Given the description of an element on the screen output the (x, y) to click on. 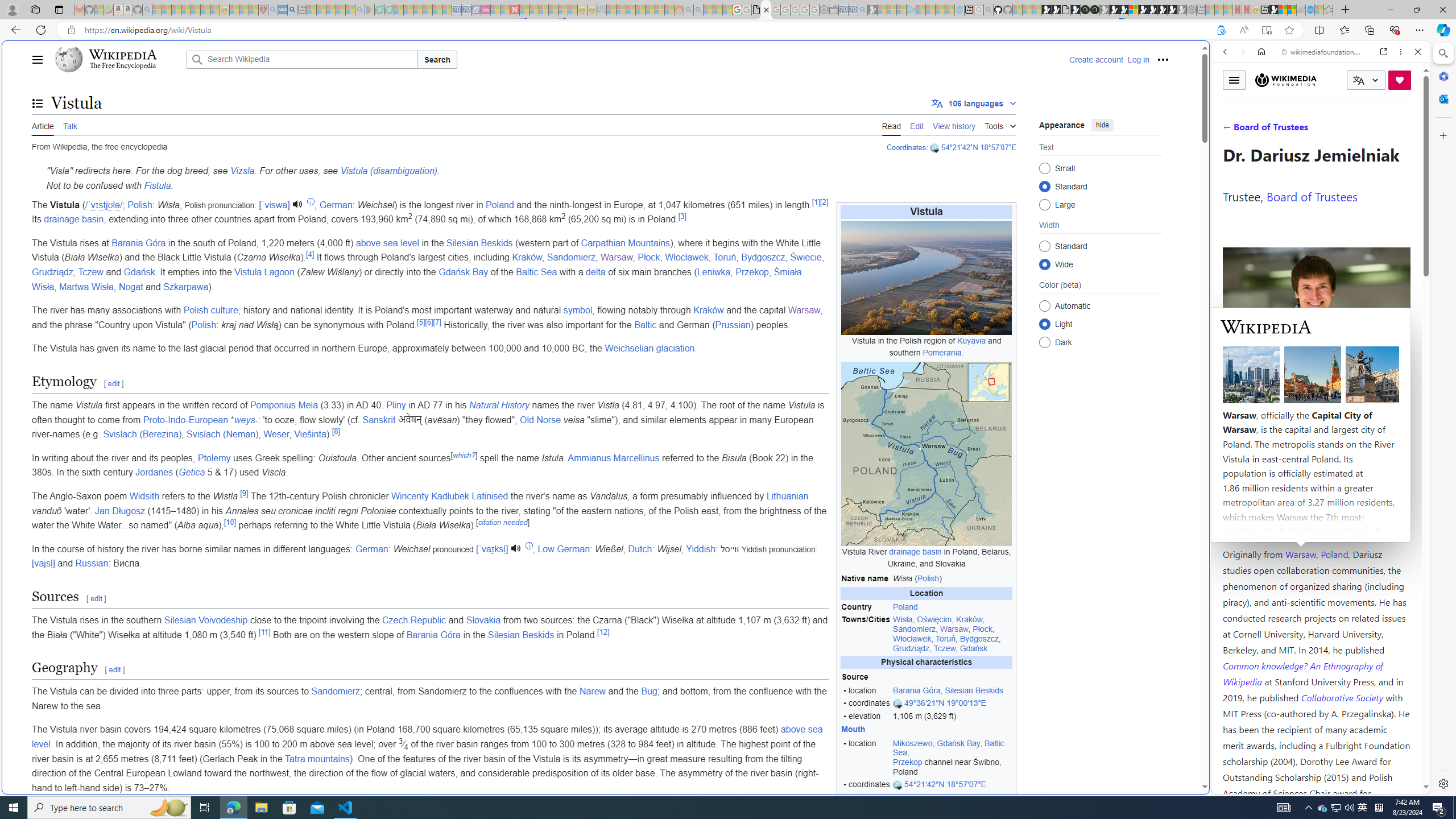
Cheap Car Rentals - Save70.com - Sleeping (853, 9)
Search Filter, WEB (1230, 129)
Earth has six continents not seven, radical new study claims (1291, 9)
Close Customize pane (1442, 135)
Common knowledge? An Ethnography of Wikipedia (1302, 672)
Talk (69, 124)
SEARCH TOOLS (1350, 130)
Pomerania (942, 352)
Forward (1242, 51)
